Given the description of an element on the screen output the (x, y) to click on. 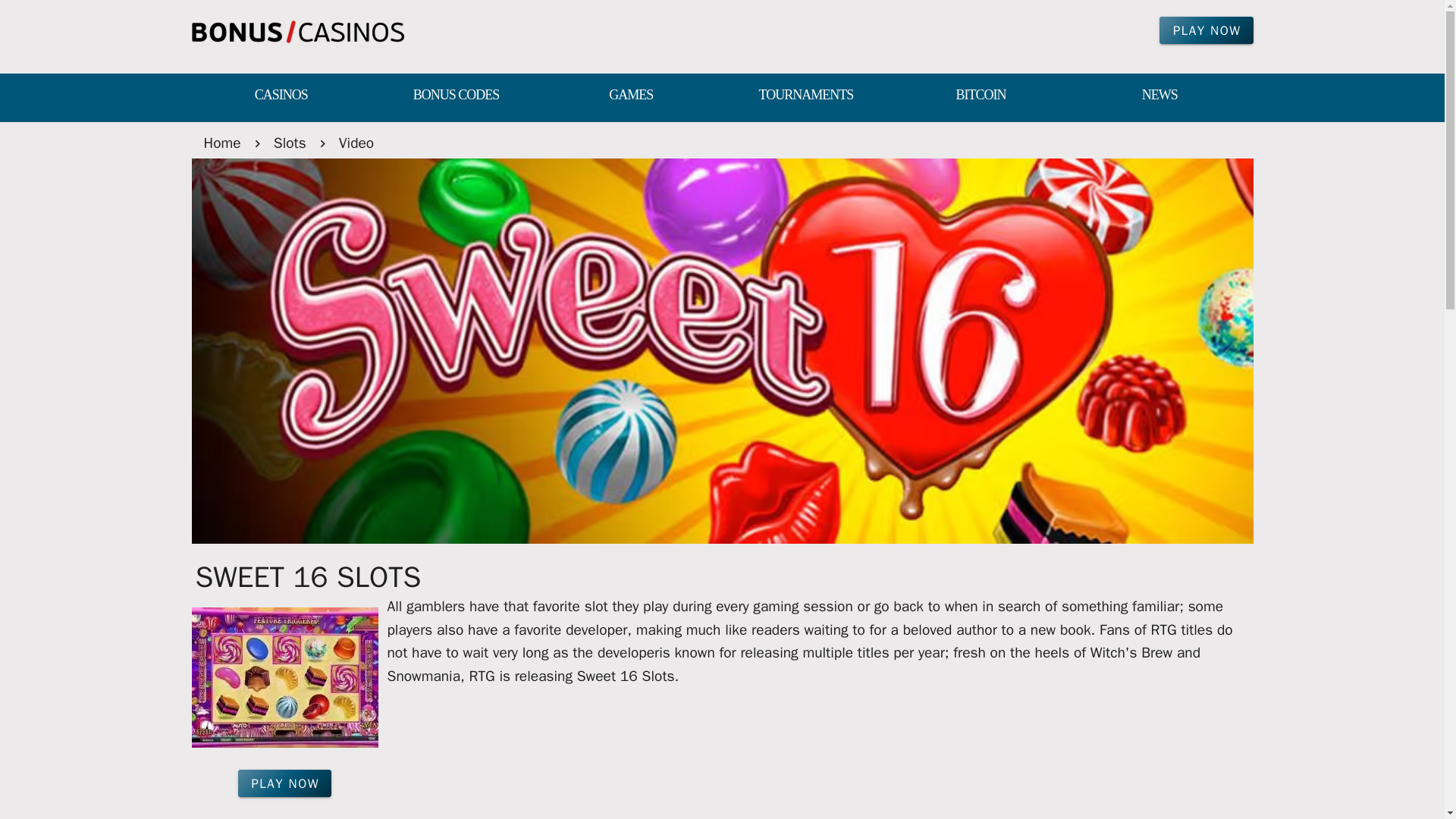
PLAY NOW (284, 782)
BITCOIN (980, 95)
Slots (289, 143)
Home (221, 143)
NEWS (1159, 95)
GAMES (630, 95)
BONUS CODES (456, 95)
CASINOS (280, 95)
Video (356, 143)
TOURNAMENTS (805, 95)
